Given the description of an element on the screen output the (x, y) to click on. 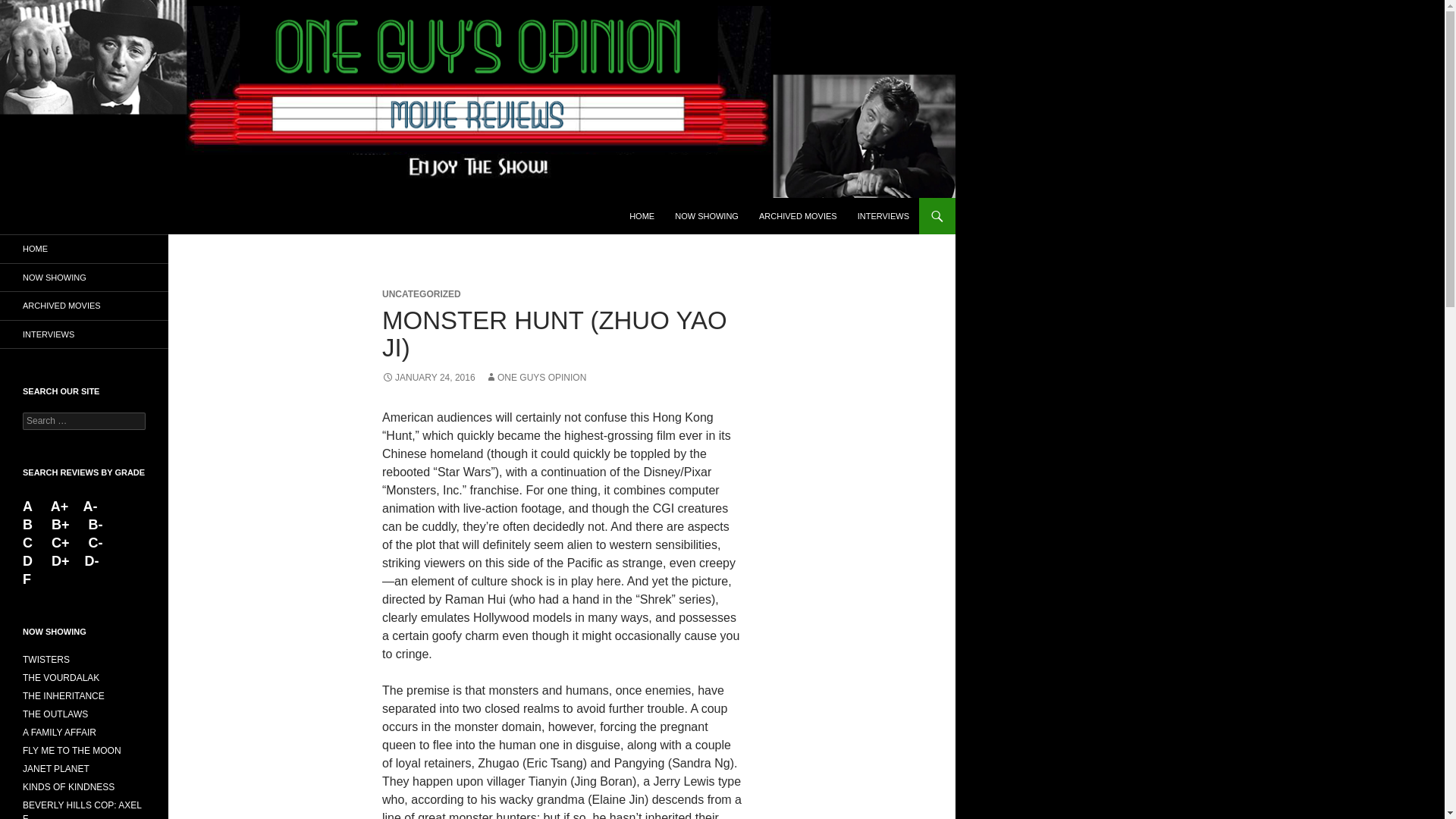
ARCHIVED MOVIES (797, 216)
JANUARY 24, 2016 (428, 377)
HOME (641, 216)
INTERVIEWS (84, 334)
JANET PLANET (55, 768)
Search (30, 8)
C- (95, 542)
NOW SHOWING (84, 277)
THE OUTLAWS (55, 714)
NOW SHOWING (706, 216)
FLY ME TO THE MOON (71, 750)
TWISTERS (46, 659)
ONE GUYS OPINION (535, 377)
INTERVIEWS (883, 216)
F (26, 579)
